Given the description of an element on the screen output the (x, y) to click on. 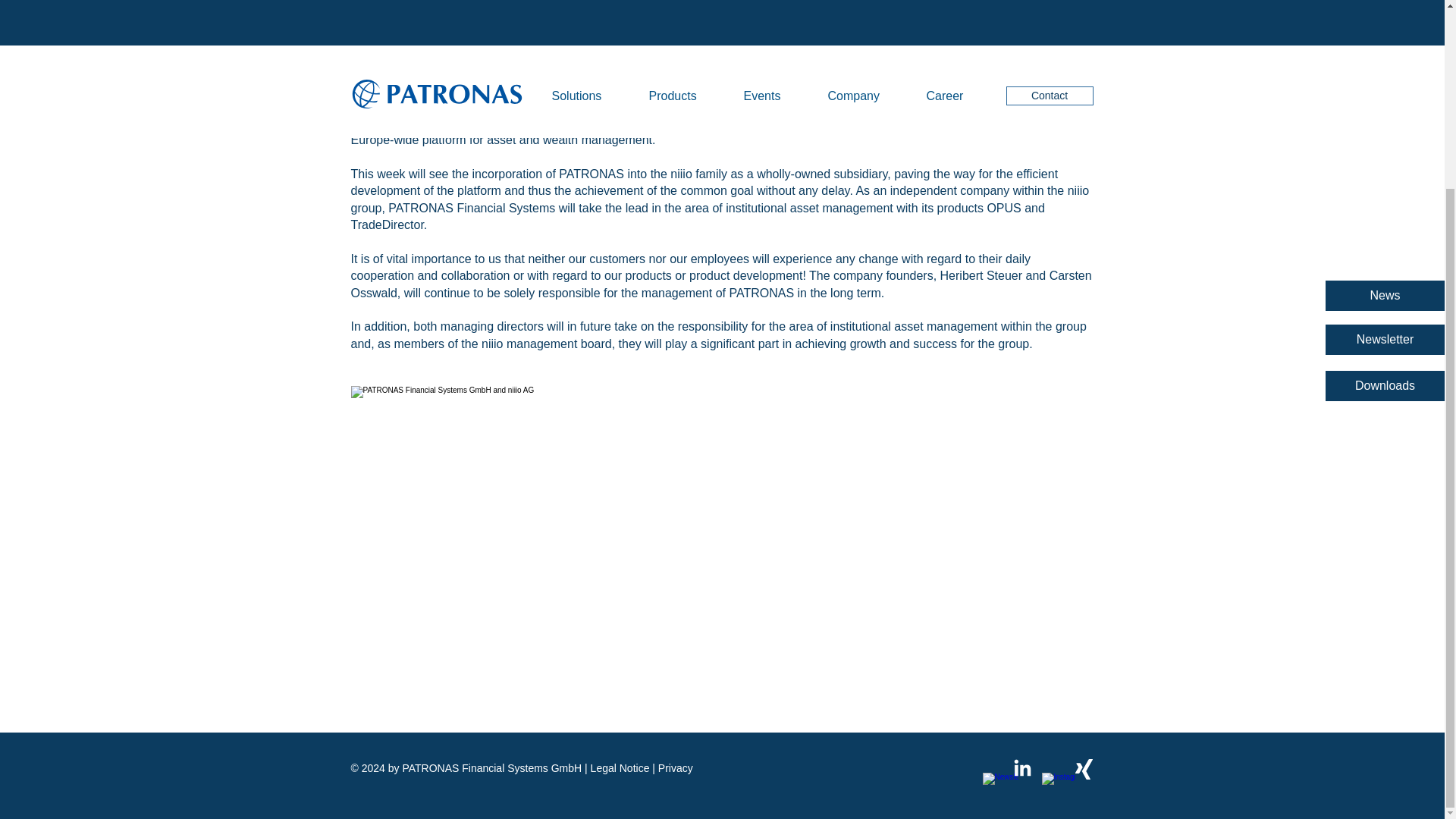
Privacy (675, 767)
Legal Notice (620, 767)
